Given the description of an element on the screen output the (x, y) to click on. 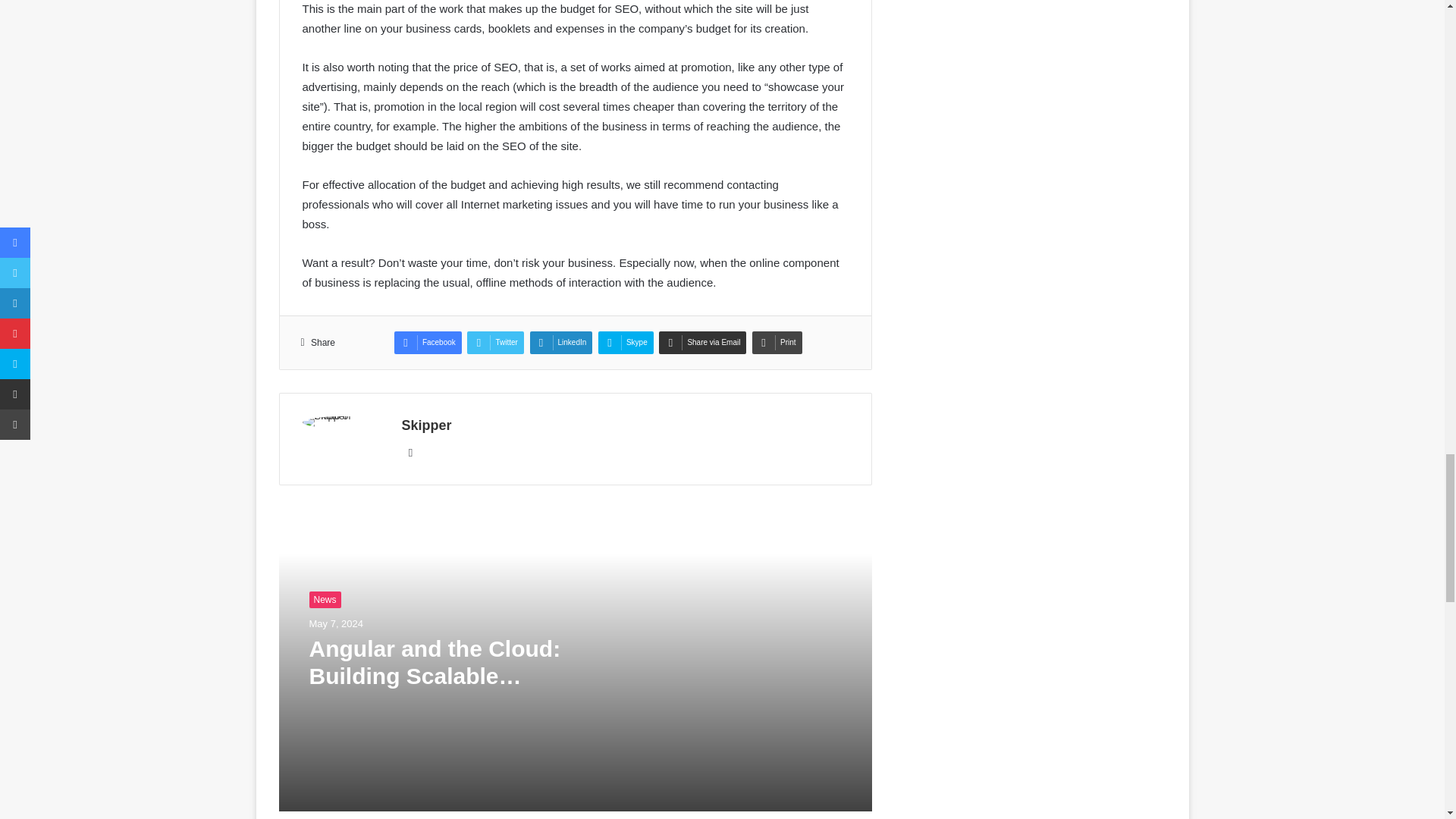
Skype (625, 342)
Facebook (427, 342)
Print (777, 342)
Twitter (494, 342)
LinkedIn (560, 342)
LinkedIn (560, 342)
Share via Email (702, 342)
Twitter (494, 342)
Share via Email (702, 342)
Skype (625, 342)
Facebook (427, 342)
